Given the description of an element on the screen output the (x, y) to click on. 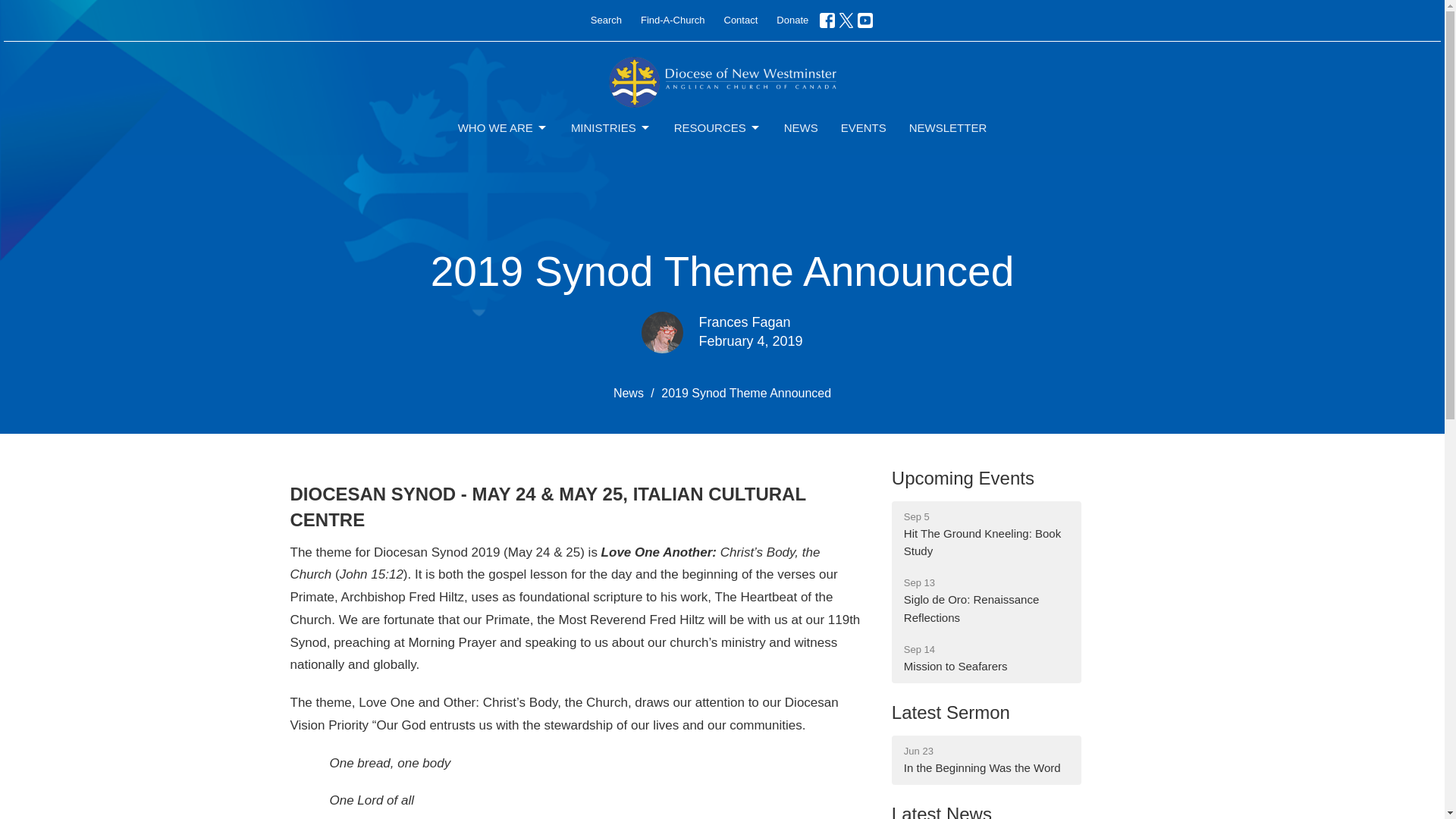
NEWSLETTER (947, 127)
EVENTS (863, 127)
RESOURCES (717, 127)
Donate (986, 658)
MINISTRIES (791, 20)
Upcoming Events (610, 127)
Search (962, 477)
Contact (605, 20)
Find-A-Church (740, 20)
